Given the description of an element on the screen output the (x, y) to click on. 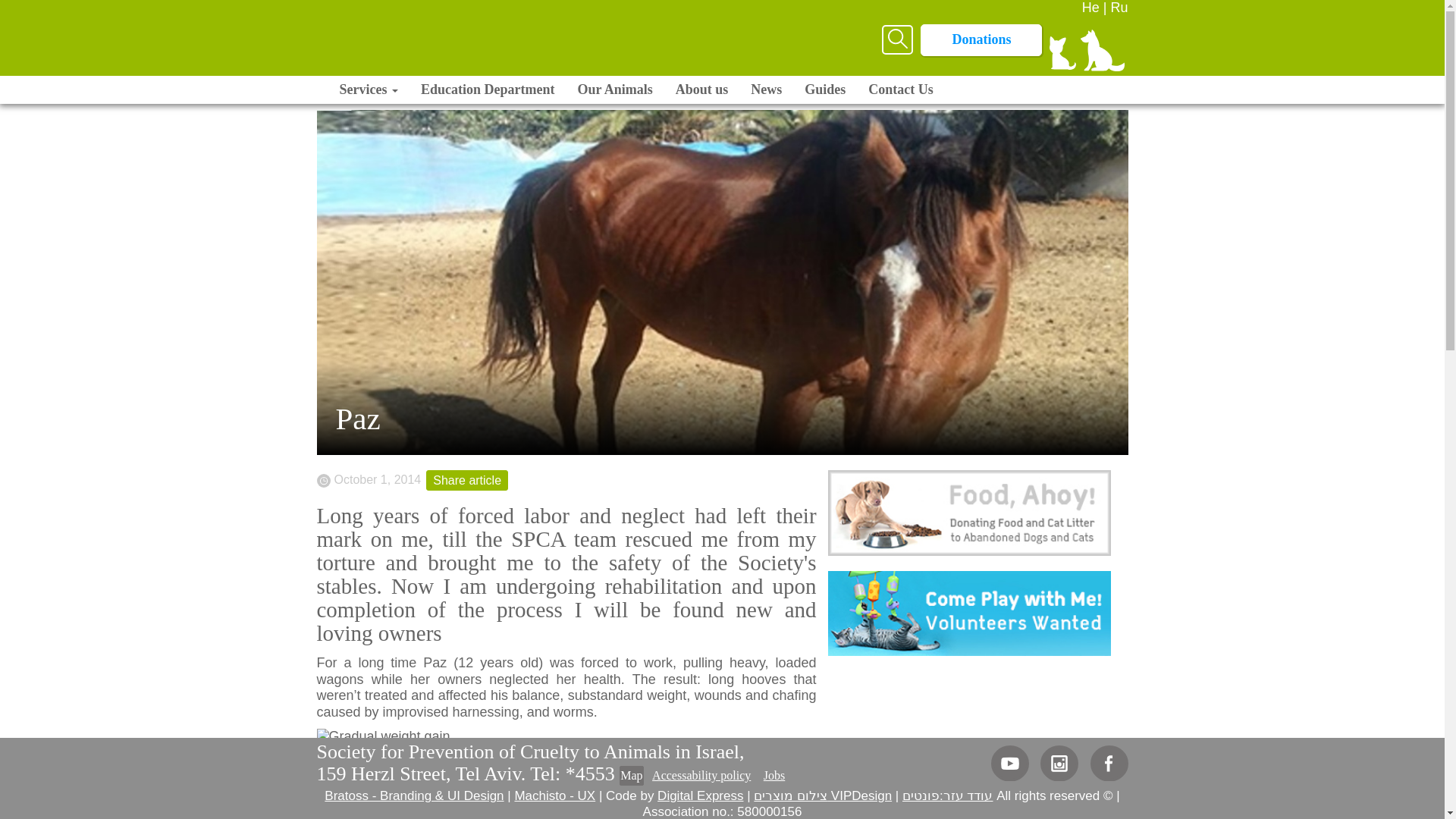
He (1093, 7)
News (766, 90)
facebook-icon-hovert (1109, 763)
Services (368, 90)
SPCA Israel (464, 45)
Education Department (487, 90)
Education Department (487, 90)
youtube-icon-hover (1010, 763)
Donations (981, 40)
